Given the description of an element on the screen output the (x, y) to click on. 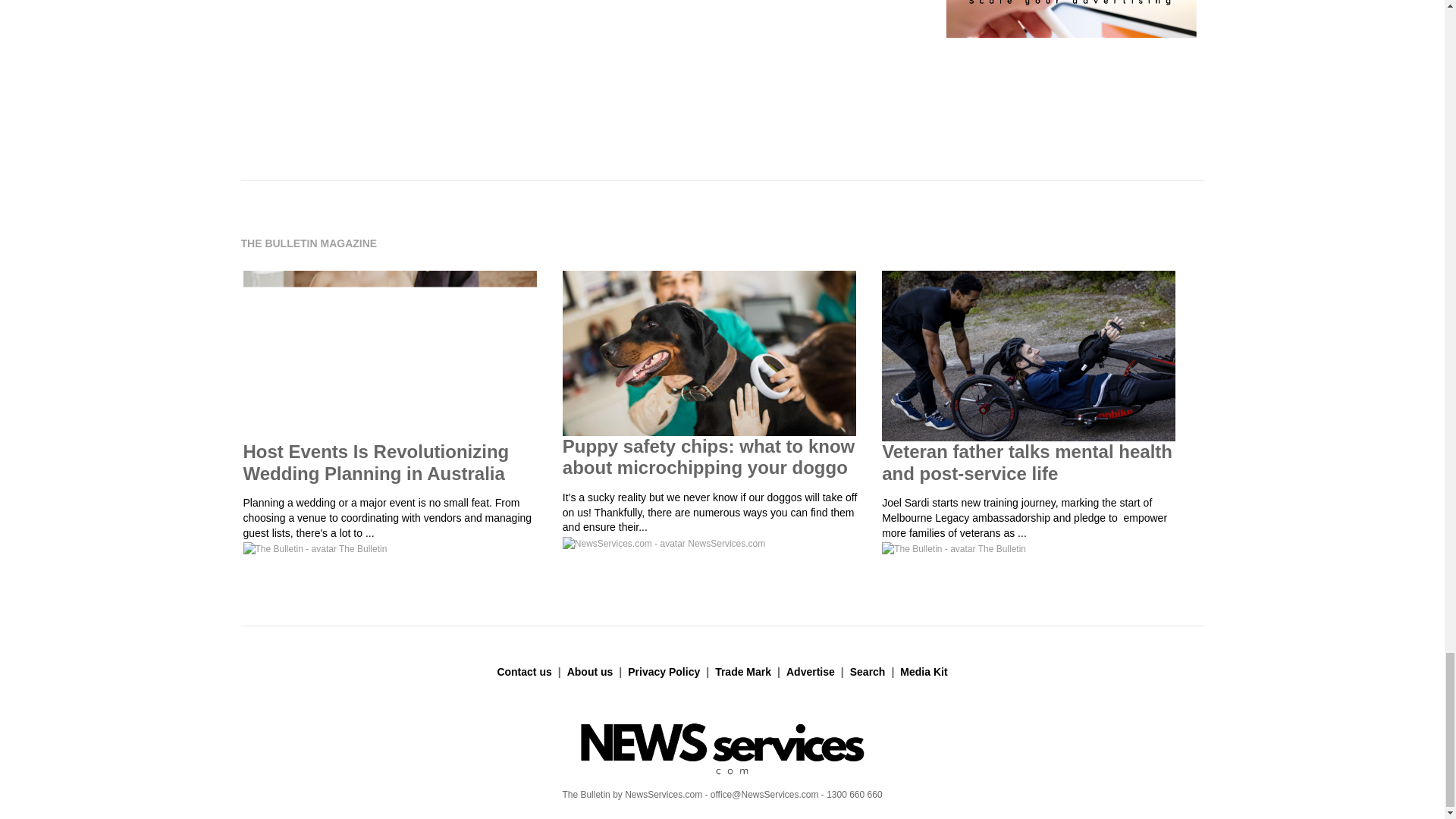
Veteran father talks mental health and post-service life (1027, 462)
Host Events Is Revolutionizing Wedding Planning in Australia (375, 462)
